Given the description of an element on the screen output the (x, y) to click on. 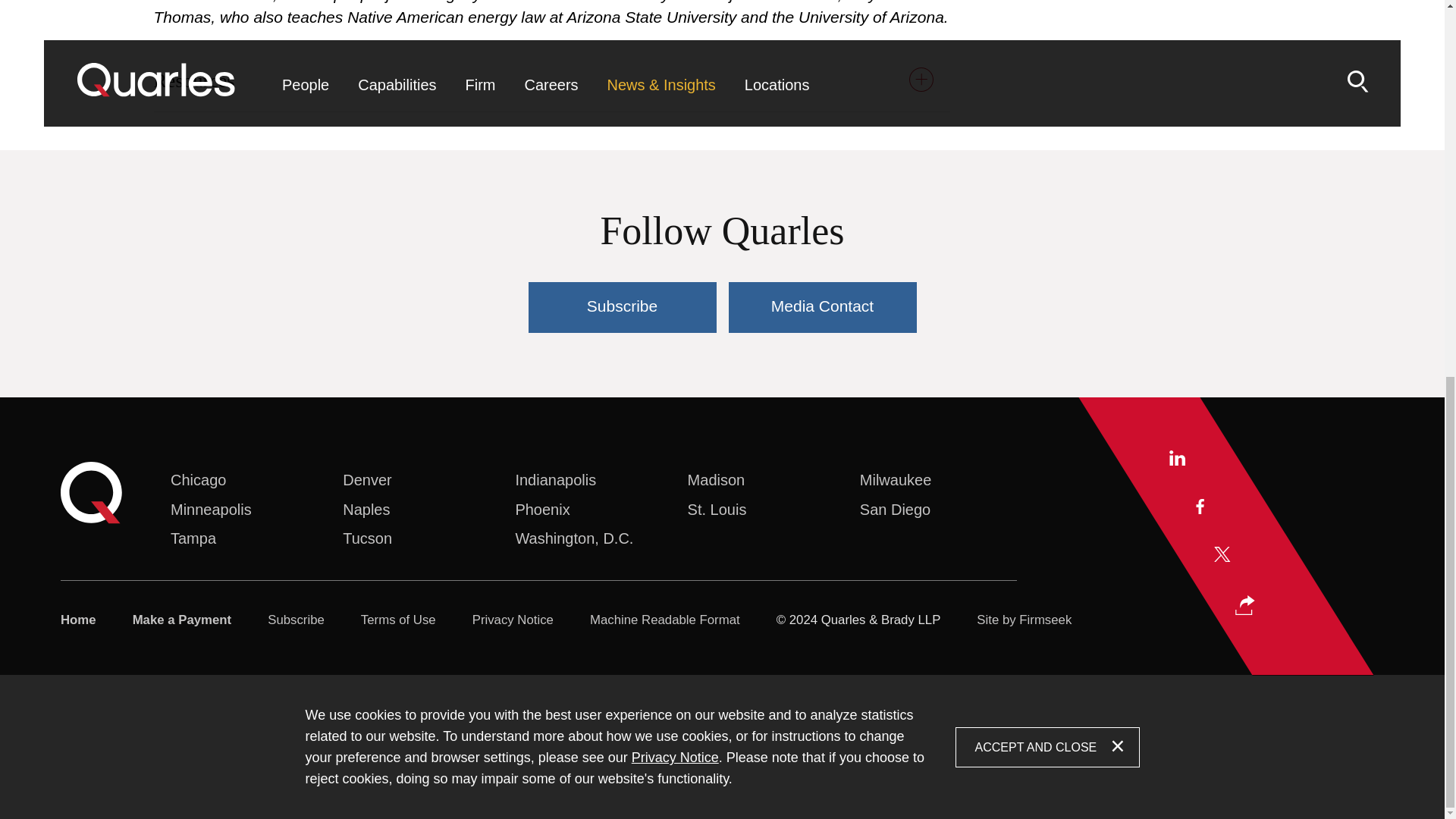
Share (1244, 605)
Linkedin (1177, 458)
X (1222, 554)
